Given the description of an element on the screen output the (x, y) to click on. 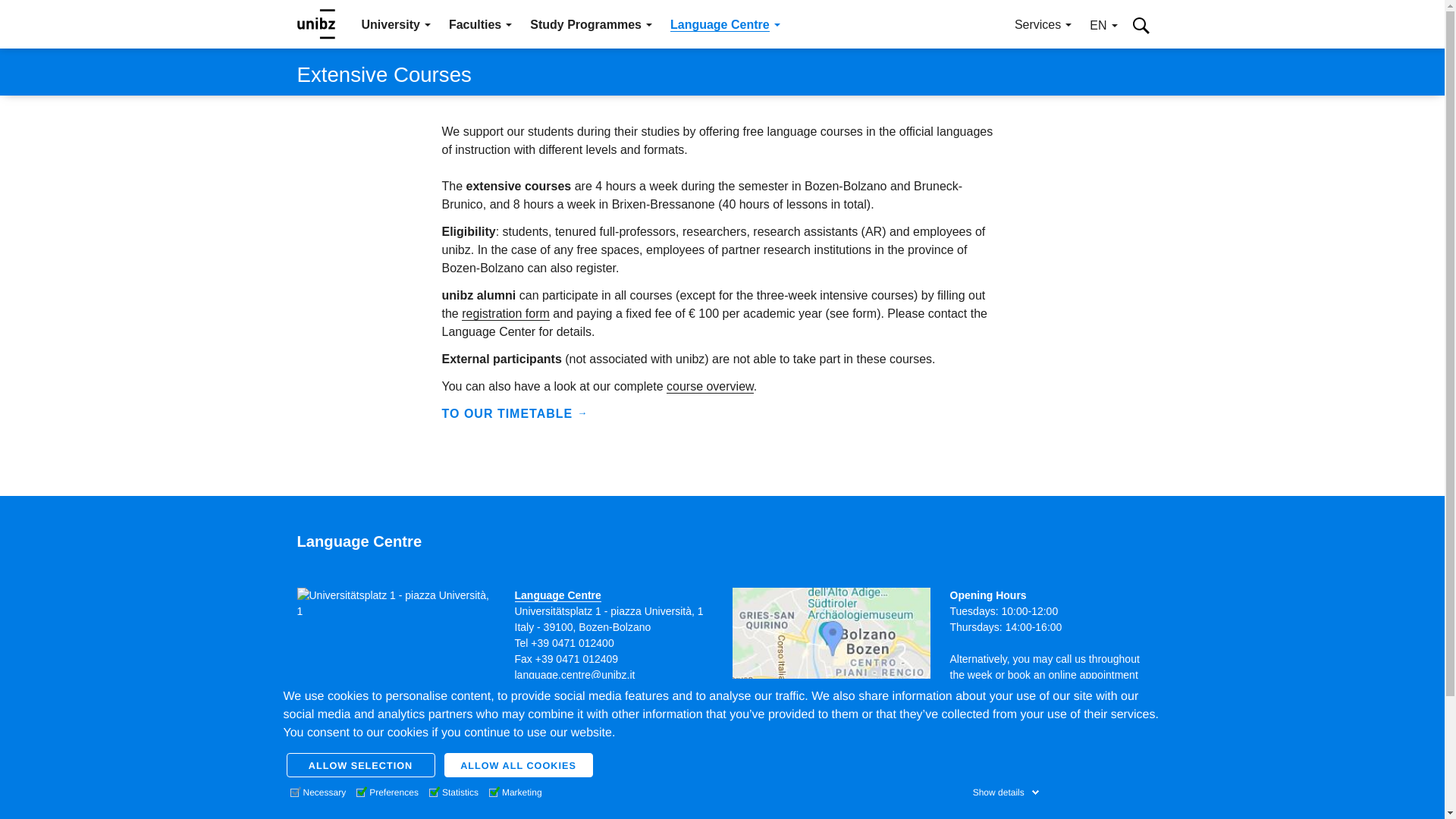
ALLOW SELECTION (360, 764)
Show details (1005, 792)
ALLOW ALL COOKIES (518, 764)
